Given the description of an element on the screen output the (x, y) to click on. 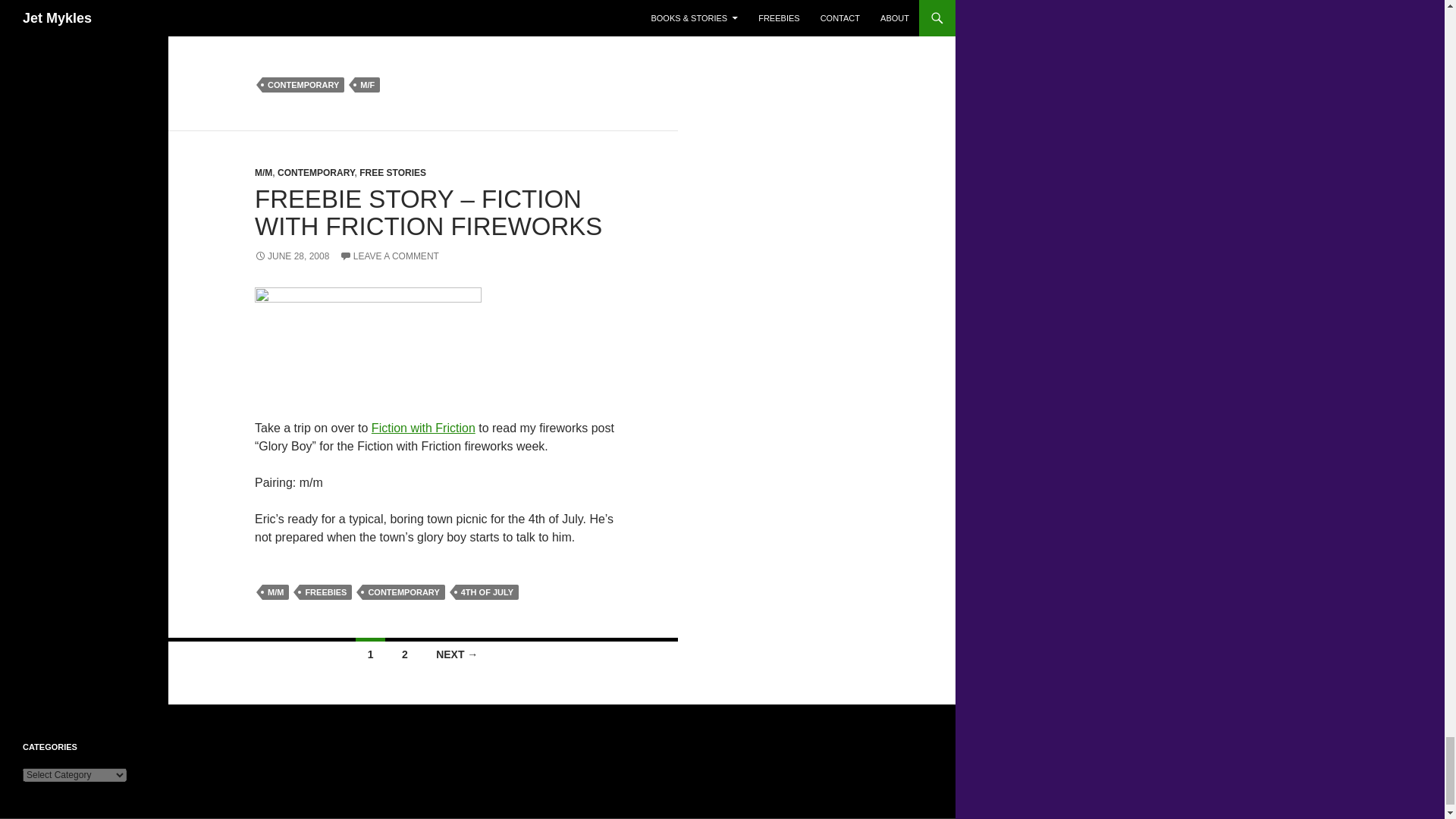
EXCERPT - One For the Team (298, 29)
Fiction with Friction (367, 342)
Fiction with Friction Fireworks (367, 344)
Fiction with Friction (423, 427)
